Given the description of an element on the screen output the (x, y) to click on. 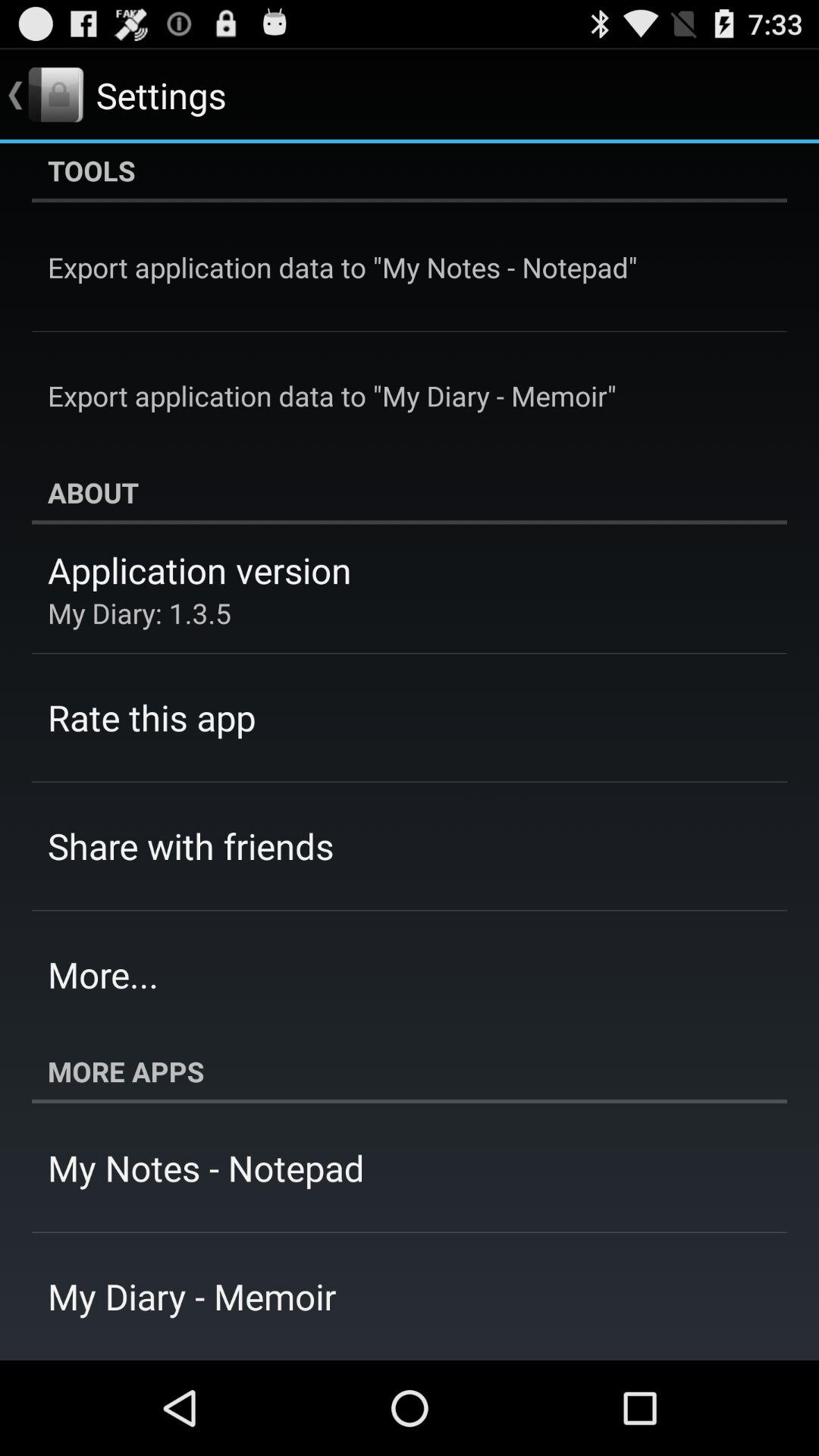
turn off app below my diary 1 app (151, 717)
